Given the description of an element on the screen output the (x, y) to click on. 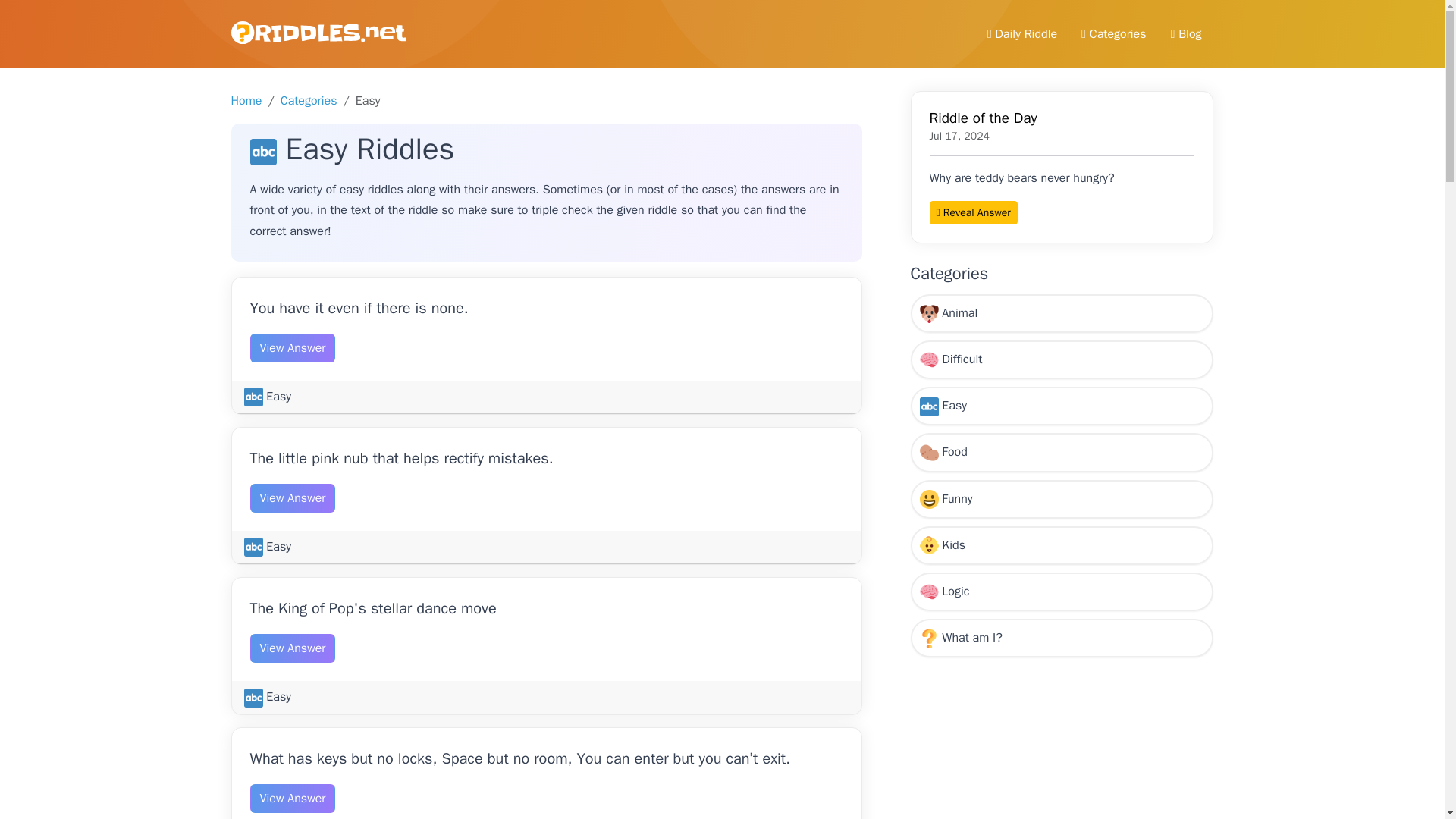
The little pink nub that helps rectify mistakes. (401, 457)
You have it even if there is none. (359, 307)
View Answer (293, 347)
View Answer (293, 798)
View Answer (293, 498)
Easy (267, 696)
Categories (309, 100)
Easy (267, 546)
Home (246, 100)
Easy (267, 396)
The King of Pop's stellar dance move (373, 608)
View Answer (293, 647)
